Given the description of an element on the screen output the (x, y) to click on. 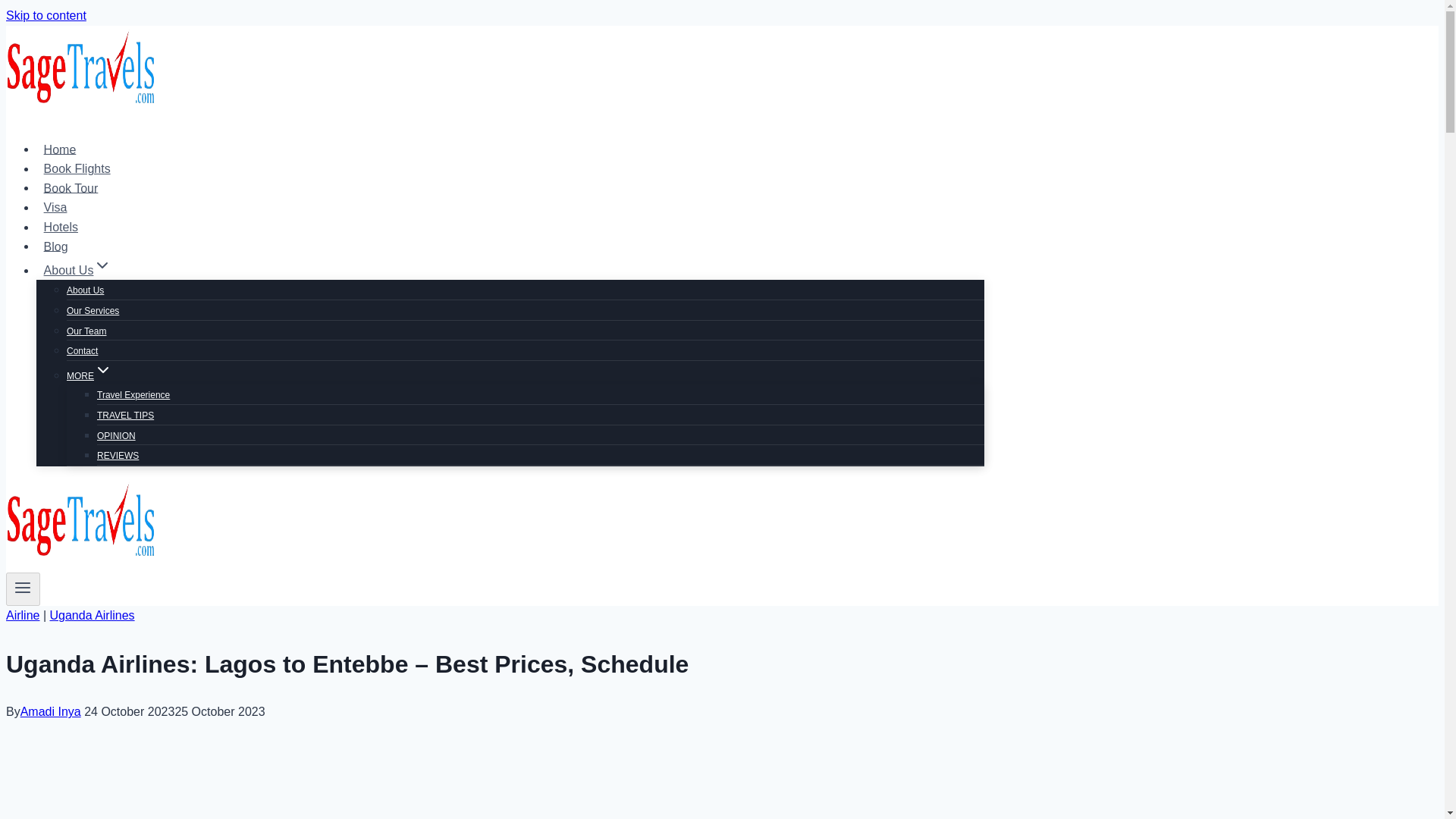
TRAVEL TIPS (125, 415)
Our Team (86, 330)
Home (59, 148)
OPINION (116, 435)
REVIEWS (117, 455)
Expand (102, 265)
Expand (103, 370)
Uganda Airlines (92, 615)
Amadi Inya (50, 711)
About Us (84, 290)
